Given the description of an element on the screen output the (x, y) to click on. 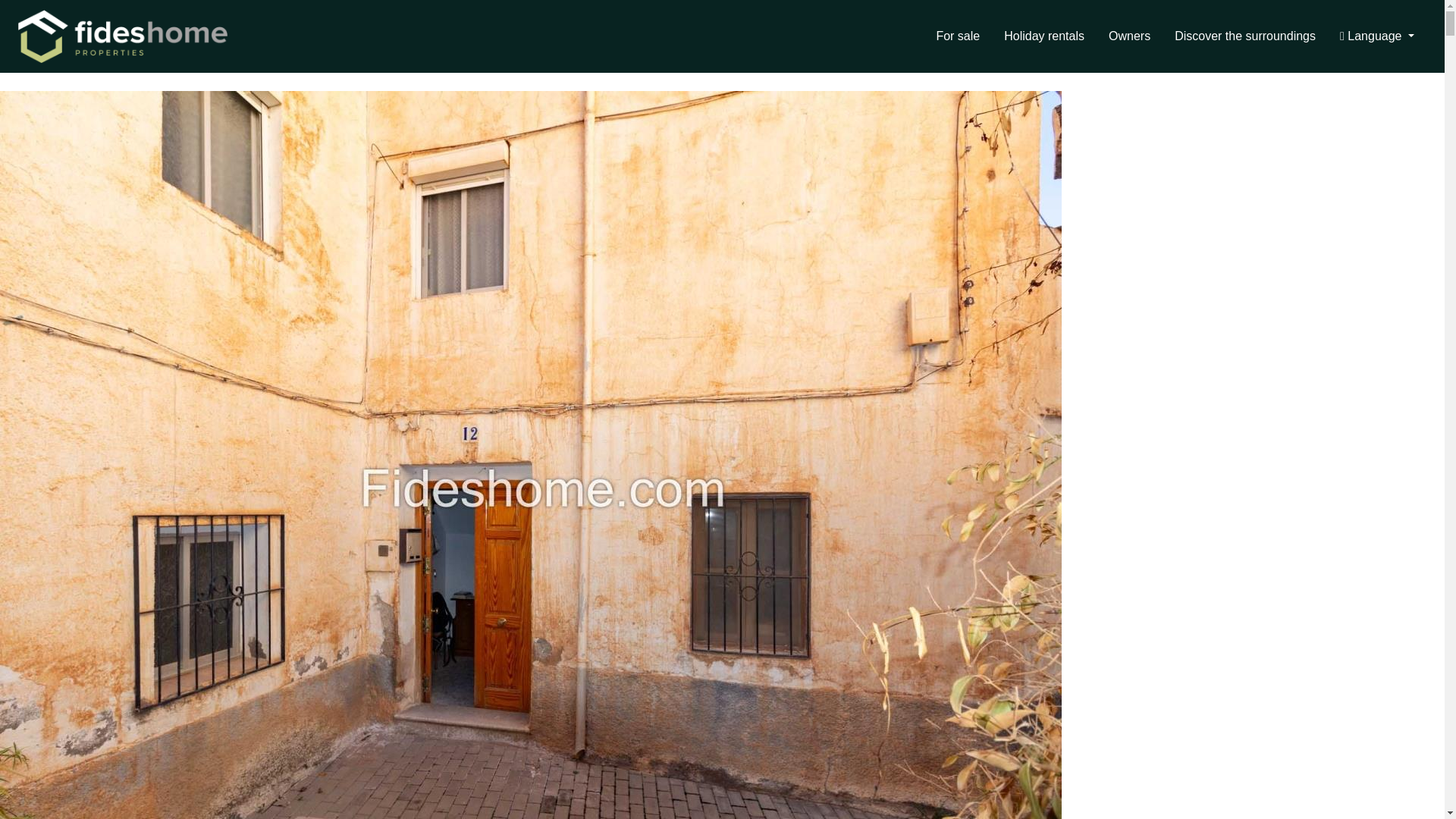
For sale (957, 36)
Owners (1128, 36)
Language (1376, 36)
Discover the surroundings (1244, 36)
Holiday rentals (1043, 36)
